Given the description of an element on the screen output the (x, y) to click on. 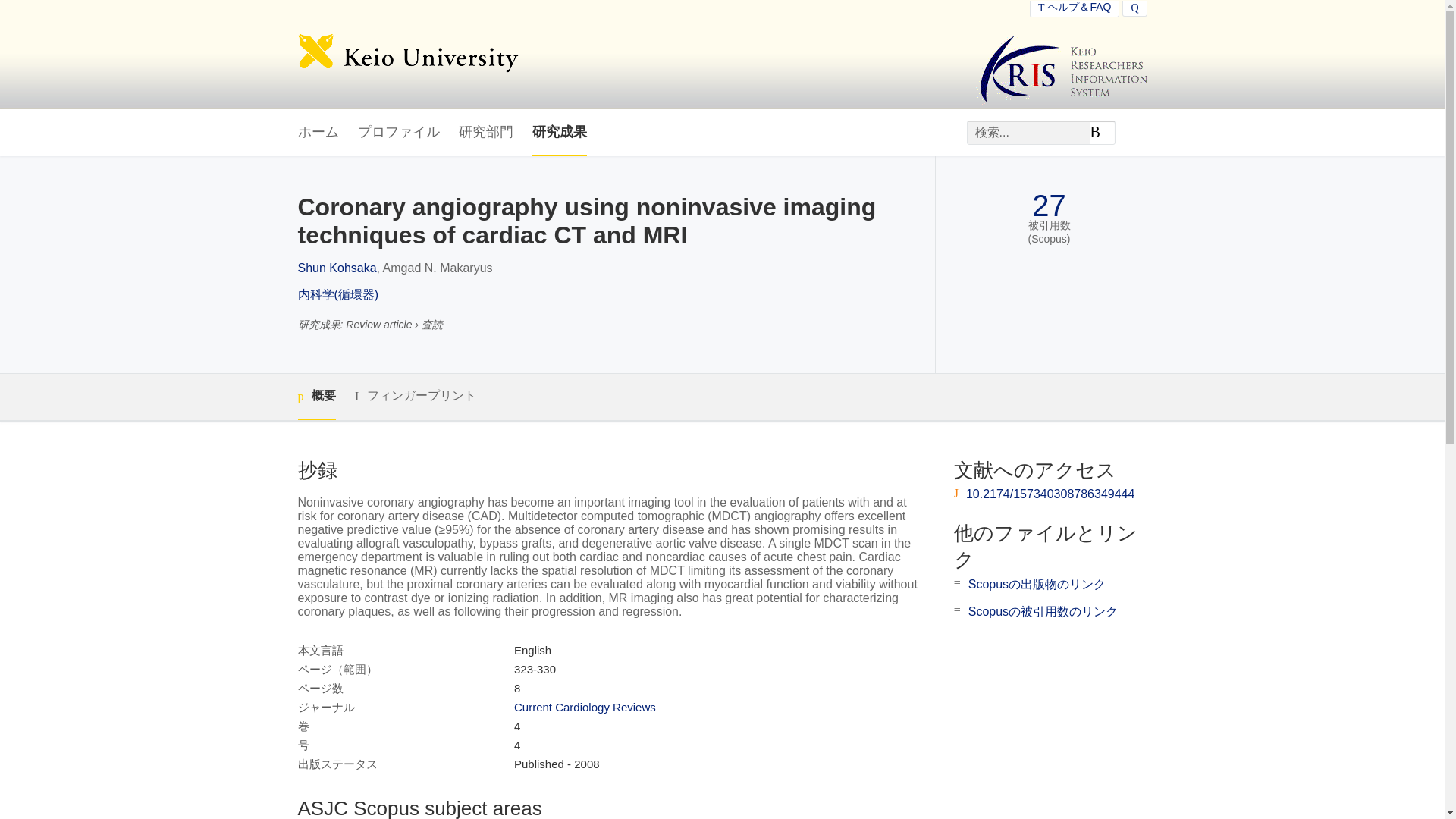
27 (1048, 205)
Shun Kohsaka (336, 267)
Current Cardiology Reviews (584, 707)
